Given the description of an element on the screen output the (x, y) to click on. 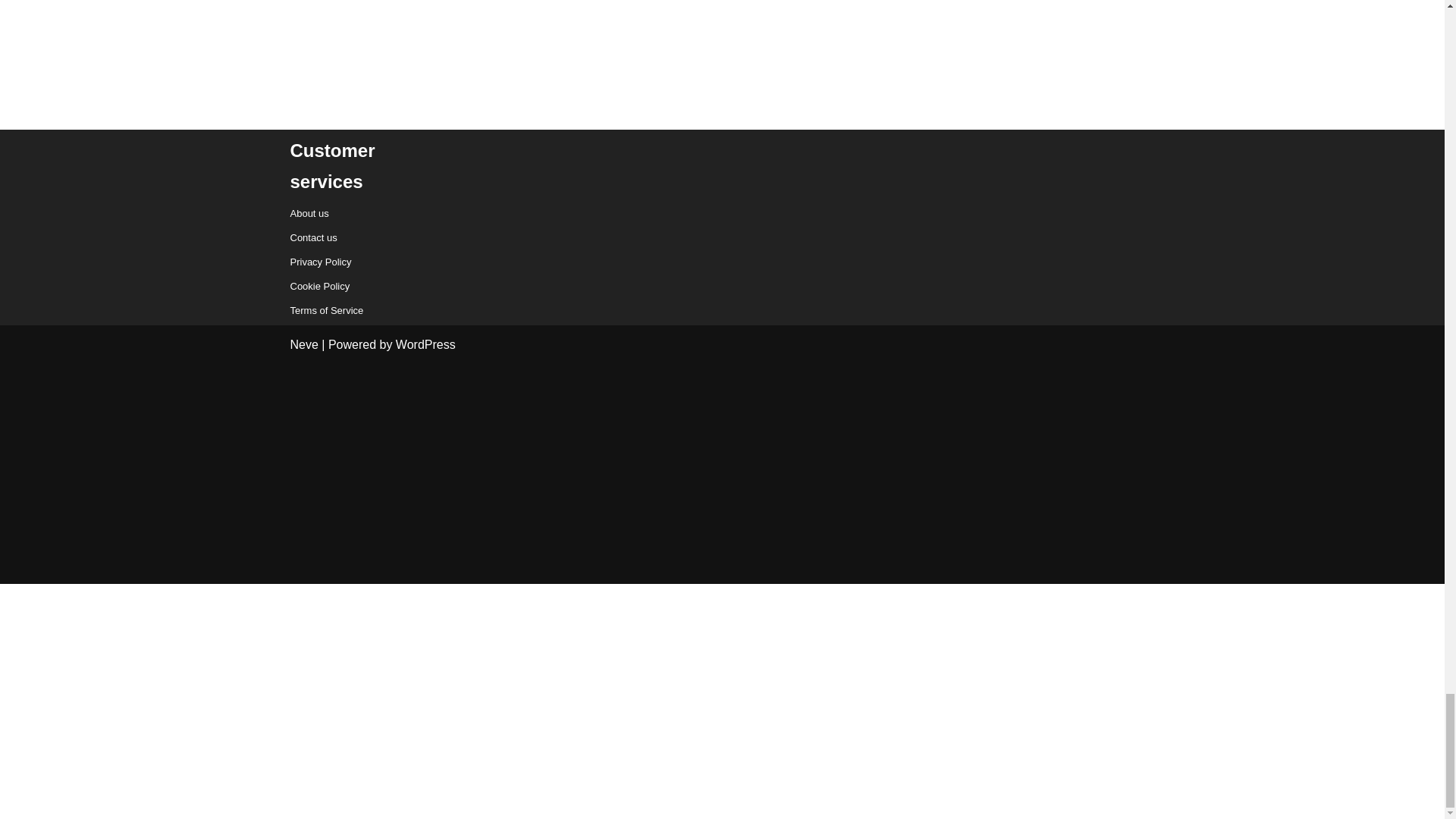
Contact us (312, 237)
About us (309, 213)
Privacy Policy (319, 261)
